Given the description of an element on the screen output the (x, y) to click on. 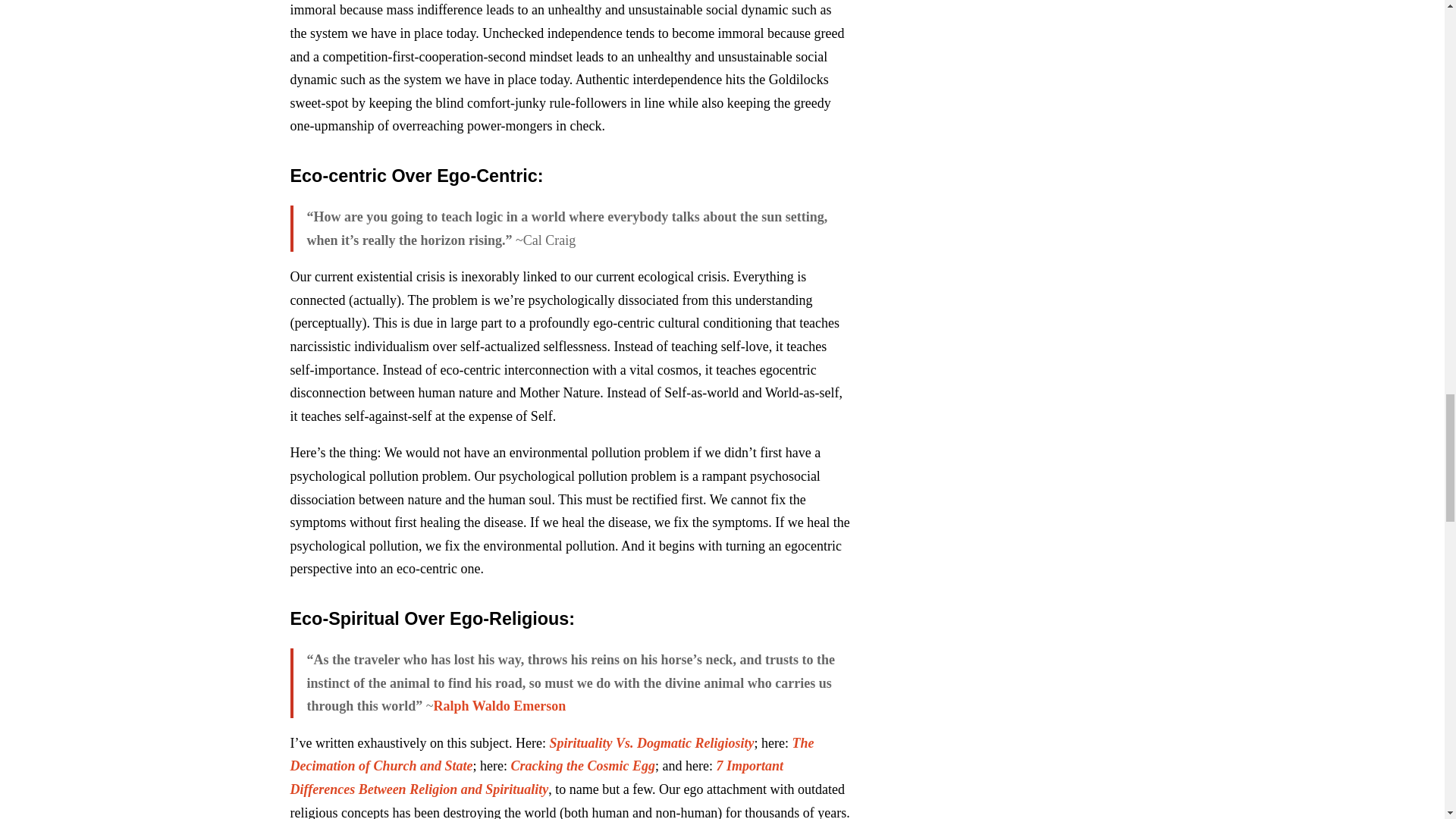
Spirituality Vs. Dogmatic Religiosity (651, 743)
The Decimation of Church and State (551, 754)
Cracking the Cosmic Egg (583, 765)
7 Important Differences Between Religion and Spirituality (536, 777)
Ralph Waldo Emerson (499, 705)
